Given the description of an element on the screen output the (x, y) to click on. 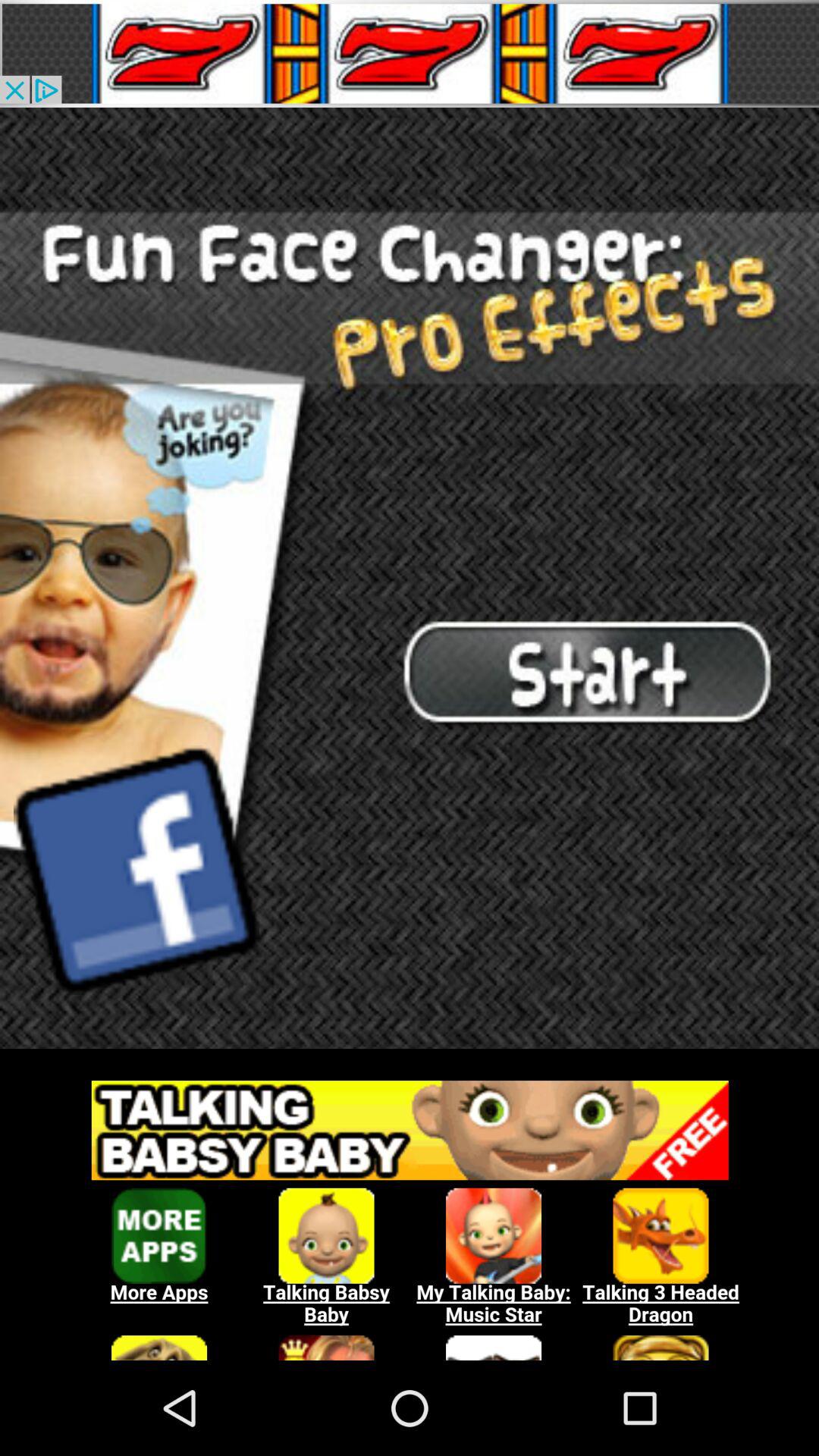
home page (409, 577)
